Given the description of an element on the screen output the (x, y) to click on. 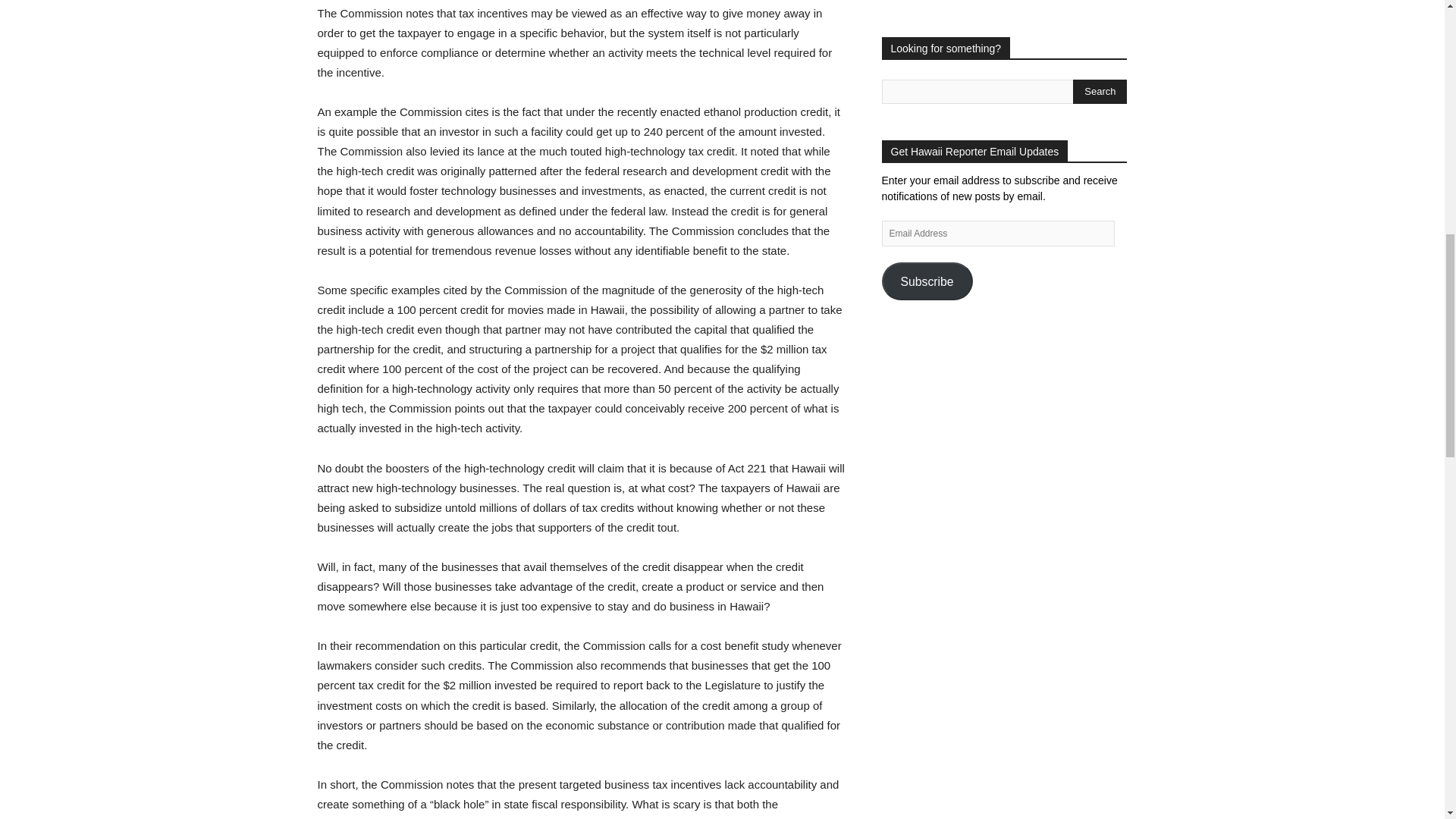
Search (1099, 91)
